Given the description of an element on the screen output the (x, y) to click on. 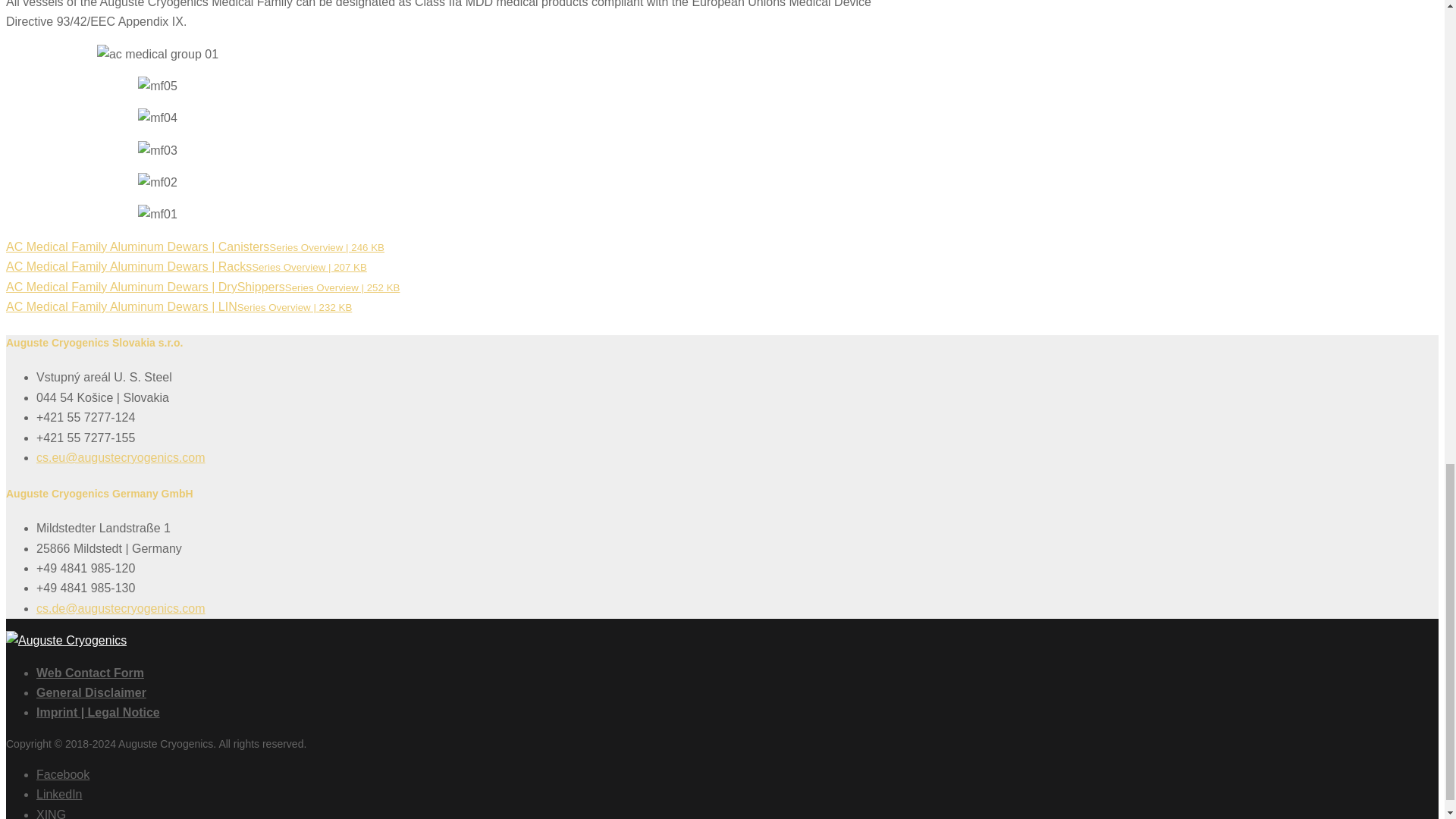
Web Contact Form (90, 672)
Facebook (62, 774)
General Disclaimer (91, 692)
LinkedIn (59, 793)
